Given the description of an element on the screen output the (x, y) to click on. 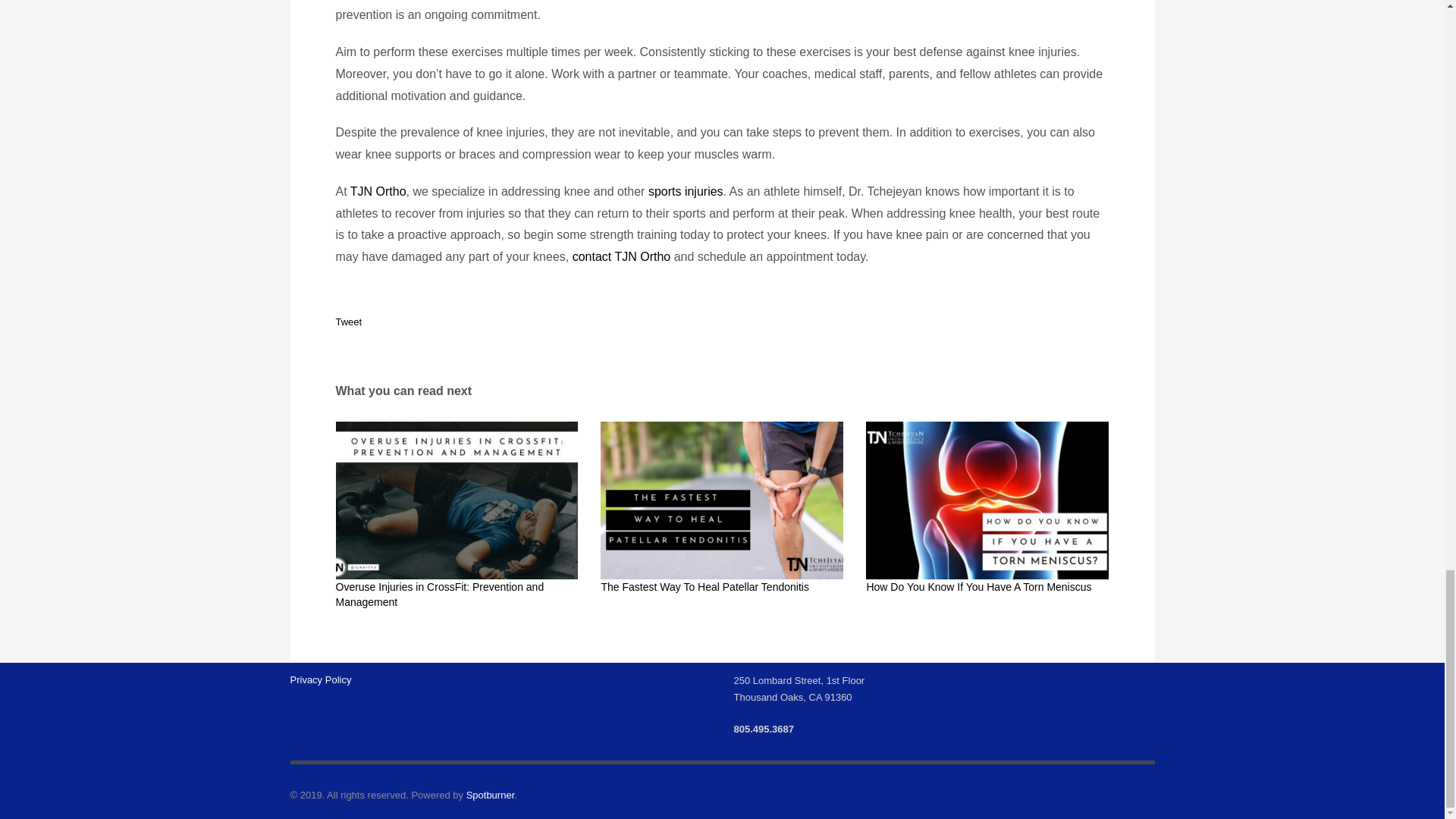
the fastest way to ehal patellar tendonitis (721, 500)
Overuse Injuries in CrossFit- Prevention and Management (456, 500)
TJN Ortho Torn Meniscus (987, 500)
